Given the description of an element on the screen output the (x, y) to click on. 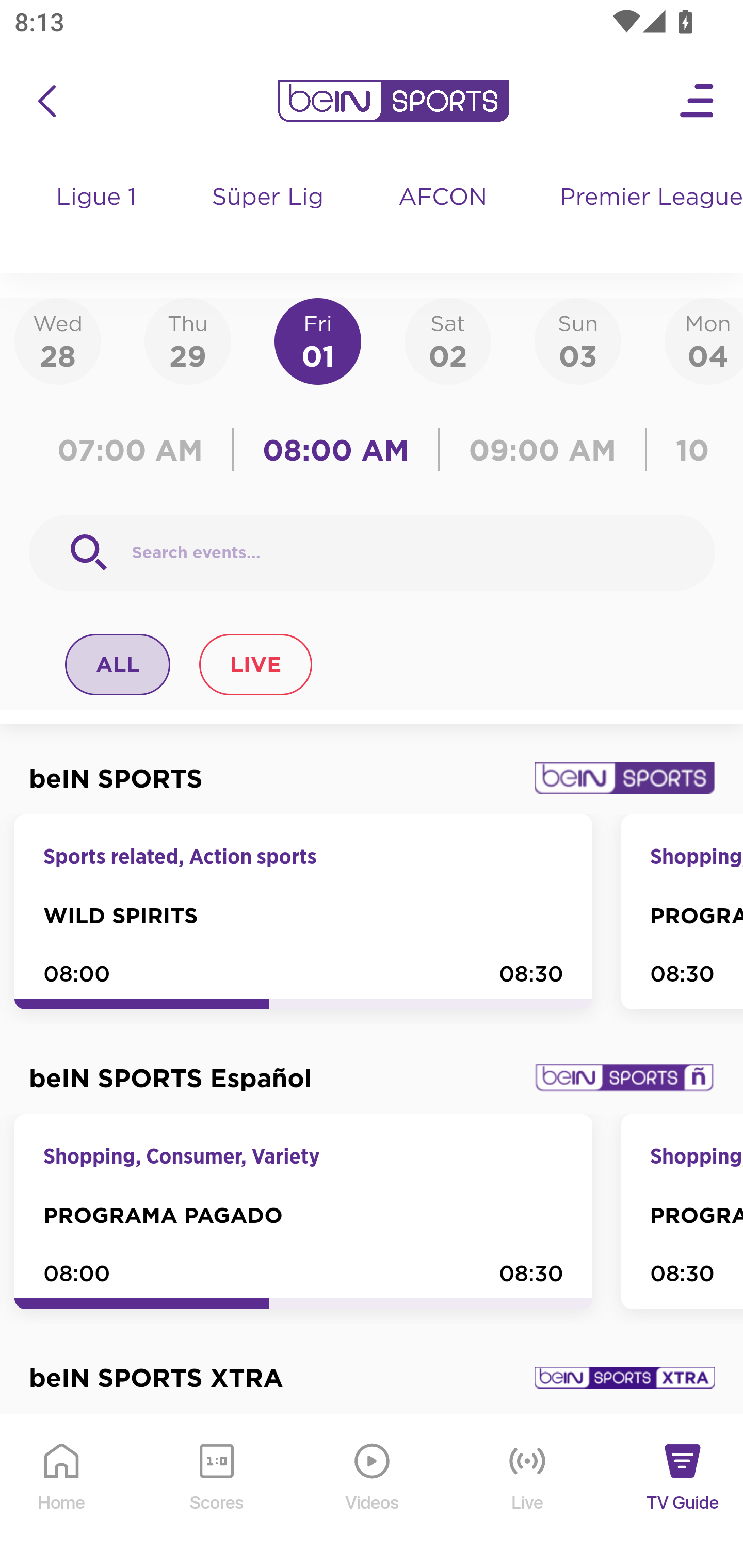
en-us?platform=mobile_android bein logo (392, 101)
icon back (46, 101)
Open Menu Icon (697, 101)
Ligue 1 (97, 216)
Süper Lig (268, 216)
AFCON (442, 198)
Premier League (643, 198)
Wed28 (58, 340)
Thu29 (187, 340)
Fri01 (318, 340)
Sat02 (447, 340)
Sun03 (578, 340)
Mon04 (703, 340)
07:00 AM (135, 449)
08:00 AM (336, 449)
09:00 AM (542, 449)
ALL (118, 663)
LIVE (255, 663)
Home Home Icon Home (61, 1491)
Scores Scores Icon Scores (216, 1491)
Videos Videos Icon Videos (372, 1491)
TV Guide TV Guide Icon TV Guide (682, 1491)
